Given the description of an element on the screen output the (x, y) to click on. 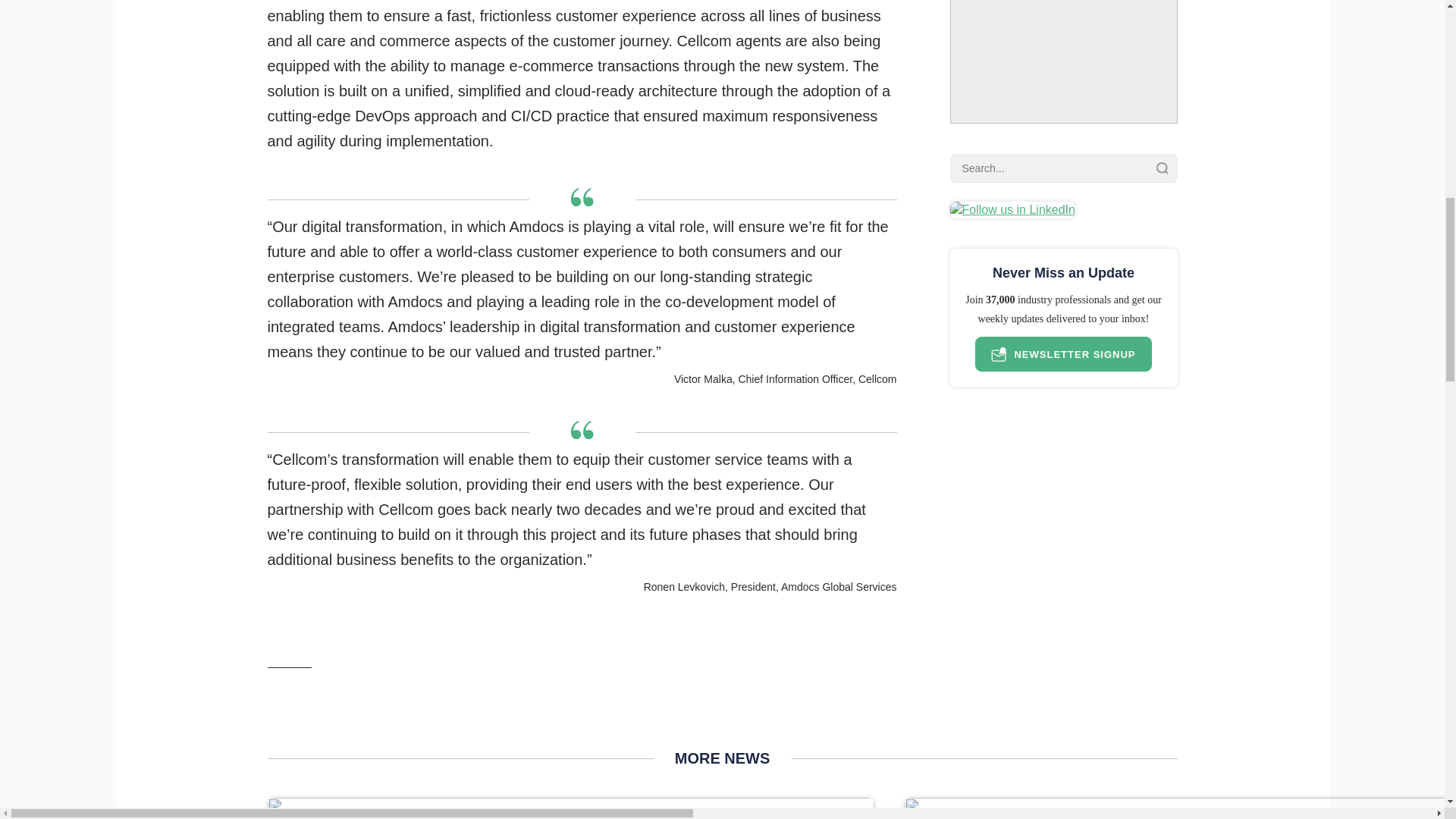
Search (1162, 167)
NEWSLETTER SIGNUP (1063, 353)
Search (1162, 167)
